Given the description of an element on the screen output the (x, y) to click on. 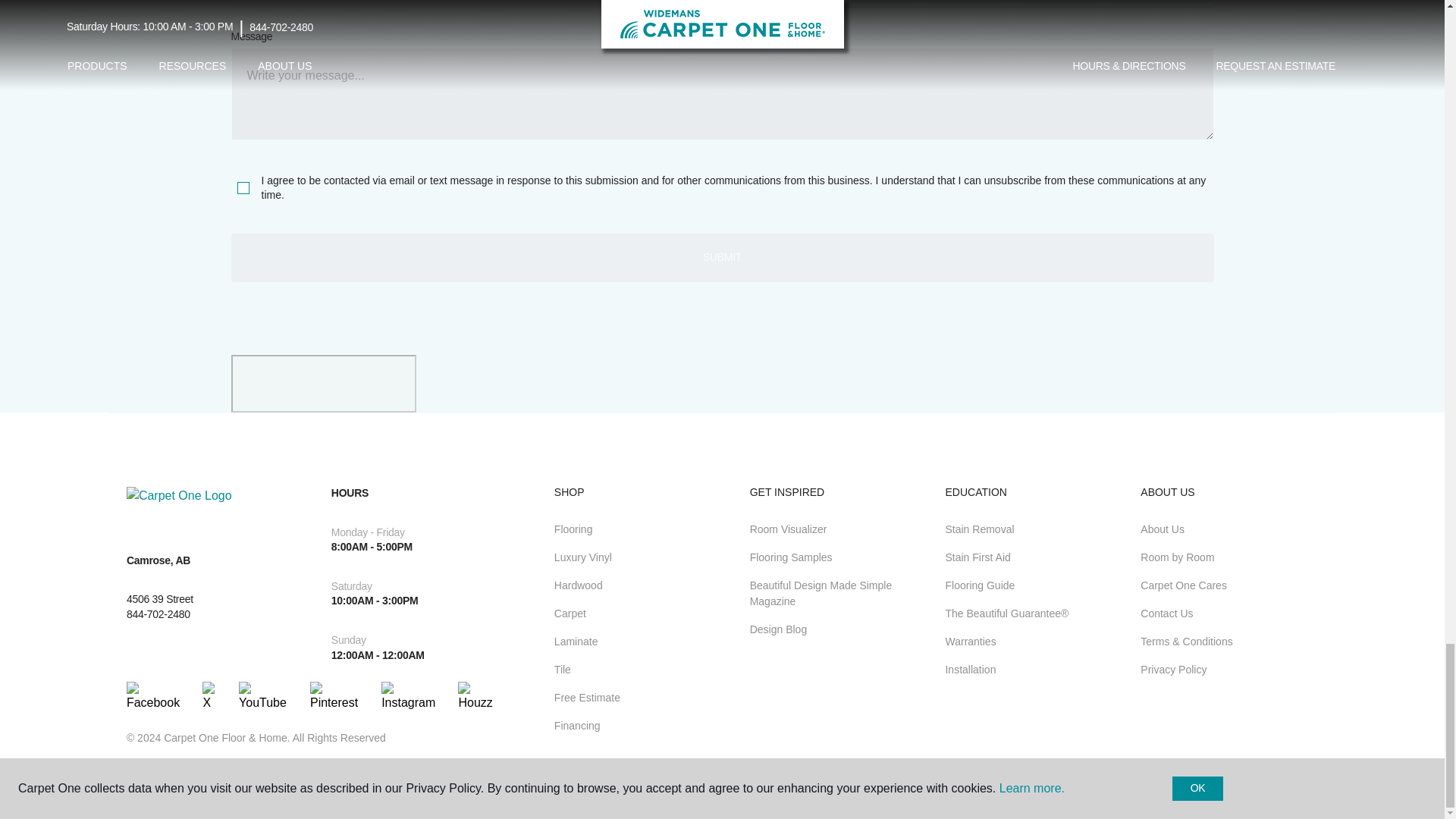
MyMessage (721, 93)
PostalCode (471, 4)
